Given the description of an element on the screen output the (x, y) to click on. 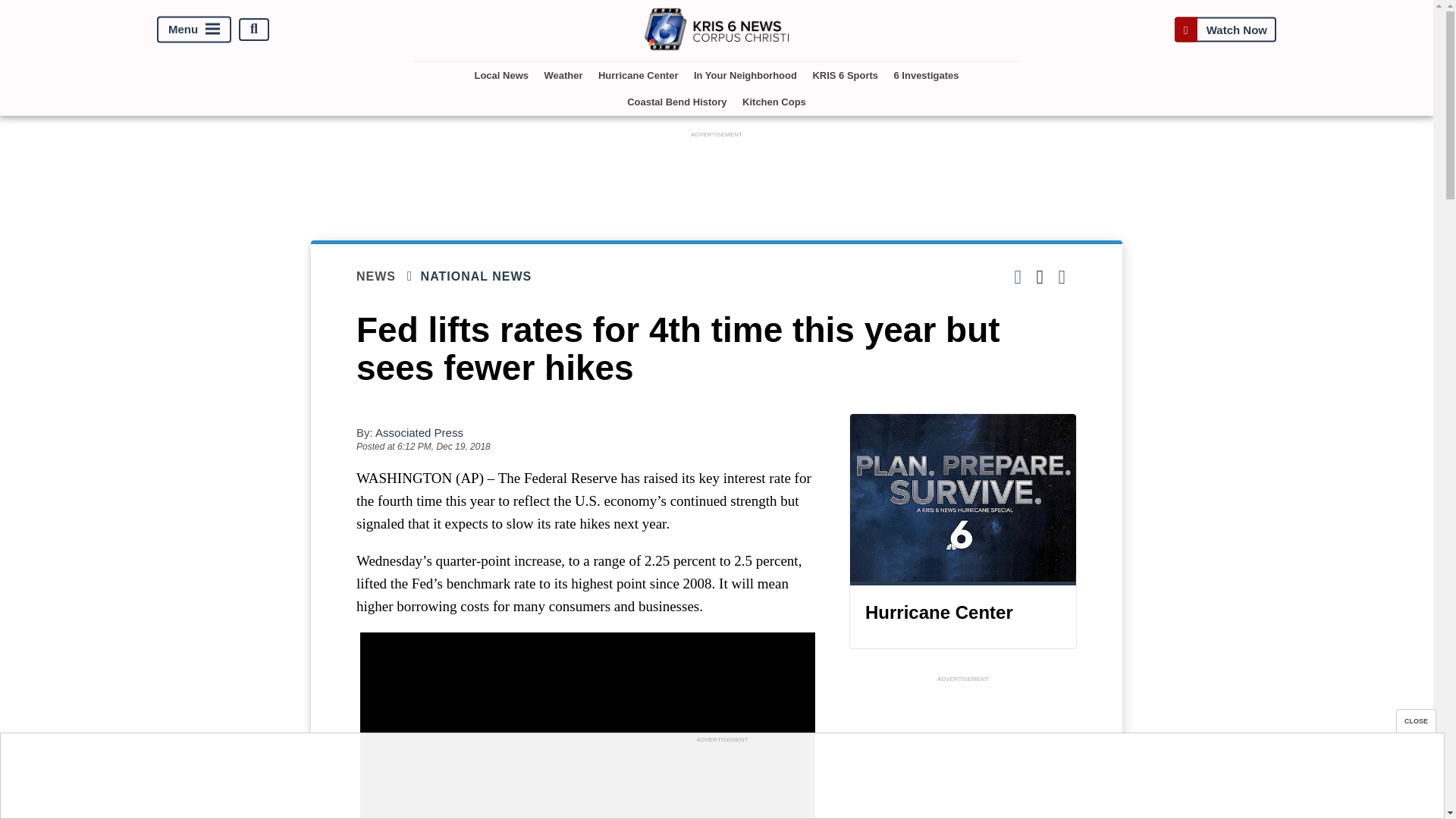
3rd party ad content (716, 175)
3rd party ad content (721, 780)
Watch Now (1224, 29)
Menu (194, 28)
3rd party ad content (962, 752)
